Given the description of an element on the screen output the (x, y) to click on. 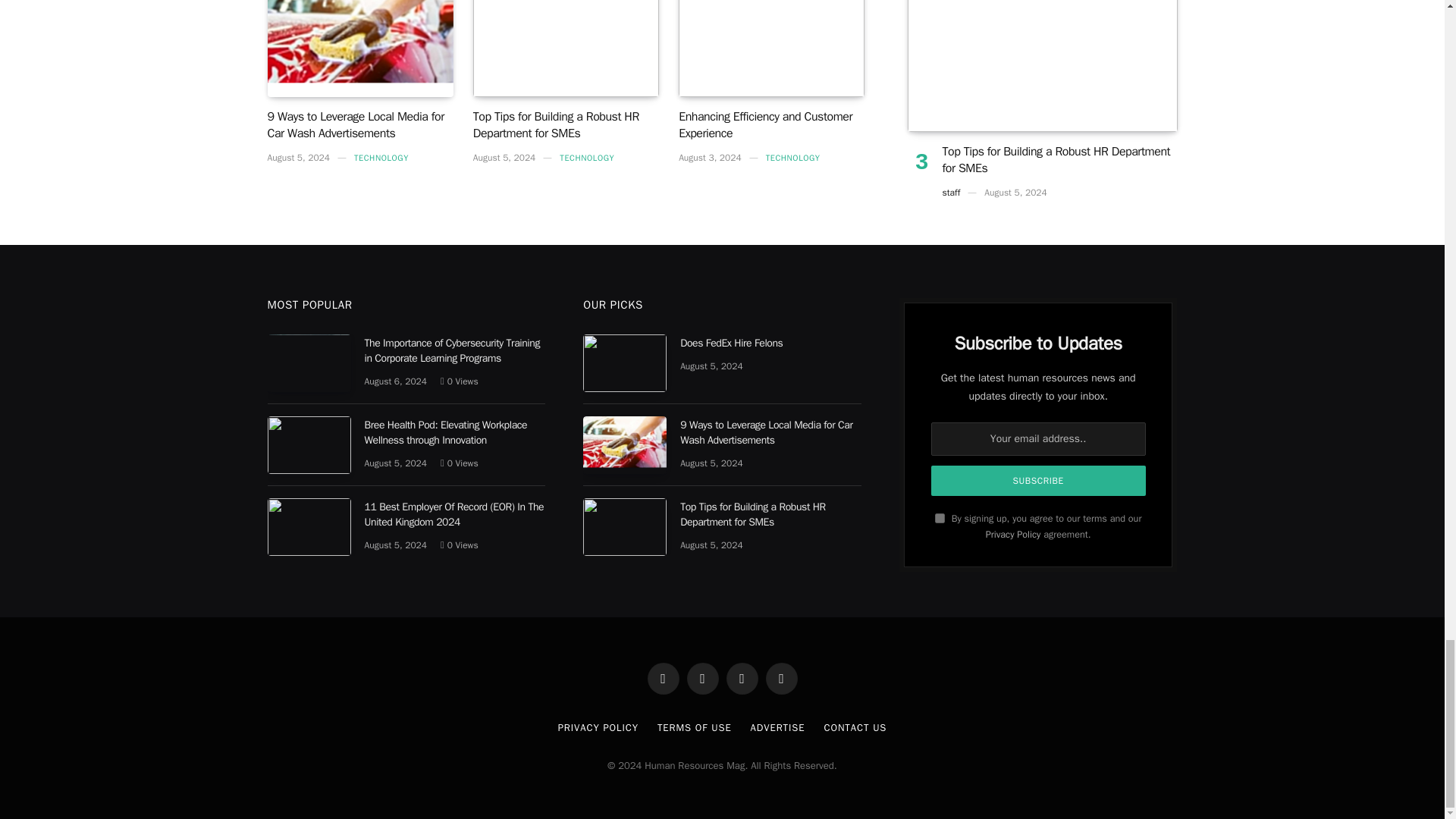
Subscribe (1038, 481)
on (939, 518)
